Given the description of an element on the screen output the (x, y) to click on. 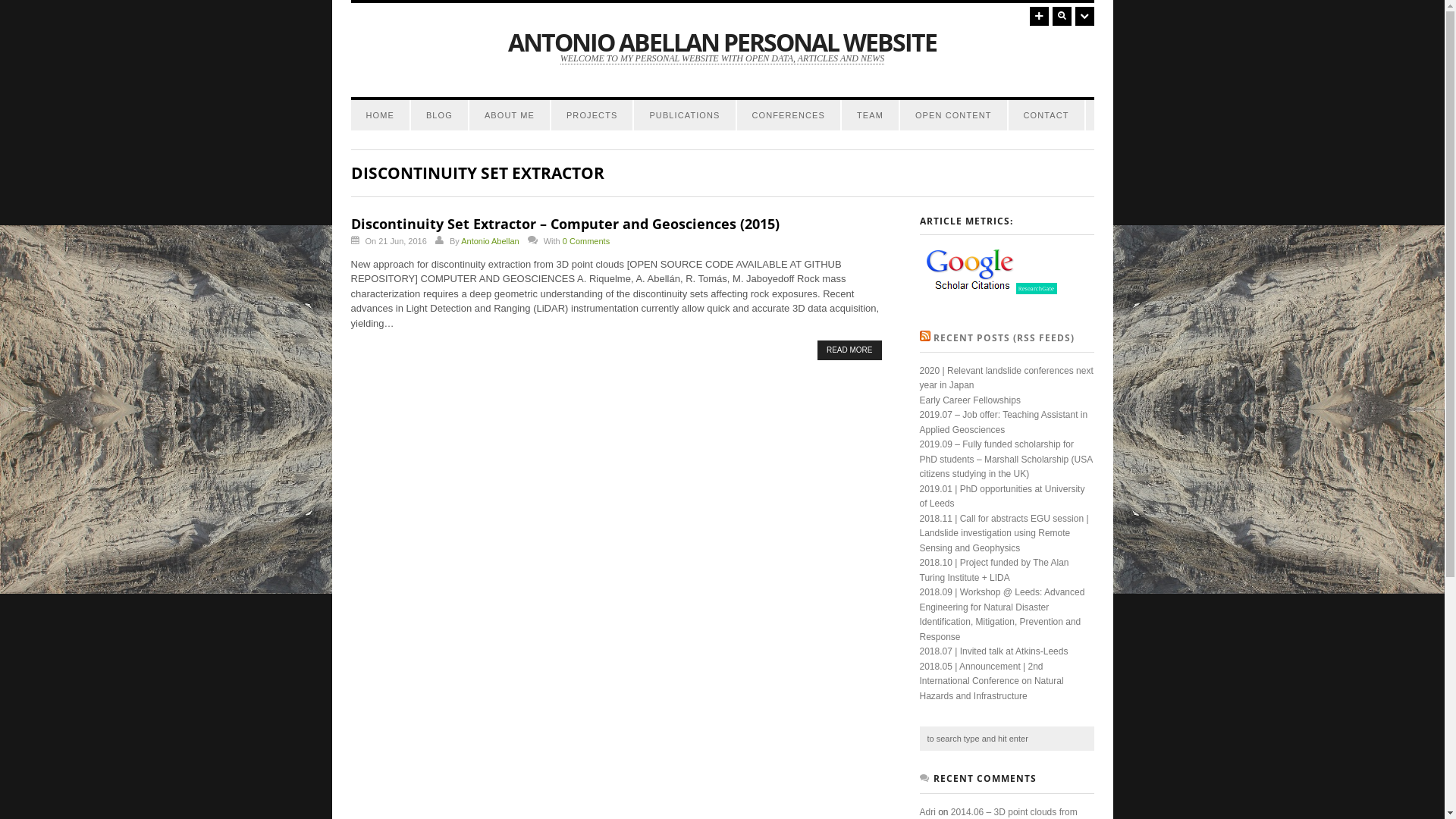
ANTONIO ABELLAN PERSONAL WEBSITE Element type: text (722, 41)
TEAM Element type: text (869, 115)
2018.07 | Invited talk at Atkins-Leeds Element type: text (993, 651)
READ MORE Element type: text (849, 350)
2020 | Relevant landslide conferences next year in Japan Element type: text (1005, 378)
CONTACT Element type: text (1046, 115)
OPEN CONTENT Element type: text (953, 115)
0 Comments Element type: text (585, 240)
2019.01 | PhD opportunities at University of Leeds Element type: text (1001, 496)
Adri Element type: text (927, 811)
HOME Element type: text (379, 115)
RECENT POSTS (RSS FEEDS) Element type: text (1002, 337)
CONFERENCES Element type: text (788, 115)
PUBLICATIONS Element type: text (683, 115)
2018.10 | Project funded by The Alan Turing Institute + LIDA Element type: text (993, 570)
Early Career Fellowships Element type: text (969, 400)
BLOG Element type: text (439, 115)
Antonio Abellan Element type: text (489, 240)
PROJECTS Element type: text (591, 115)
ABOUT ME Element type: text (509, 115)
